Given the description of an element on the screen output the (x, y) to click on. 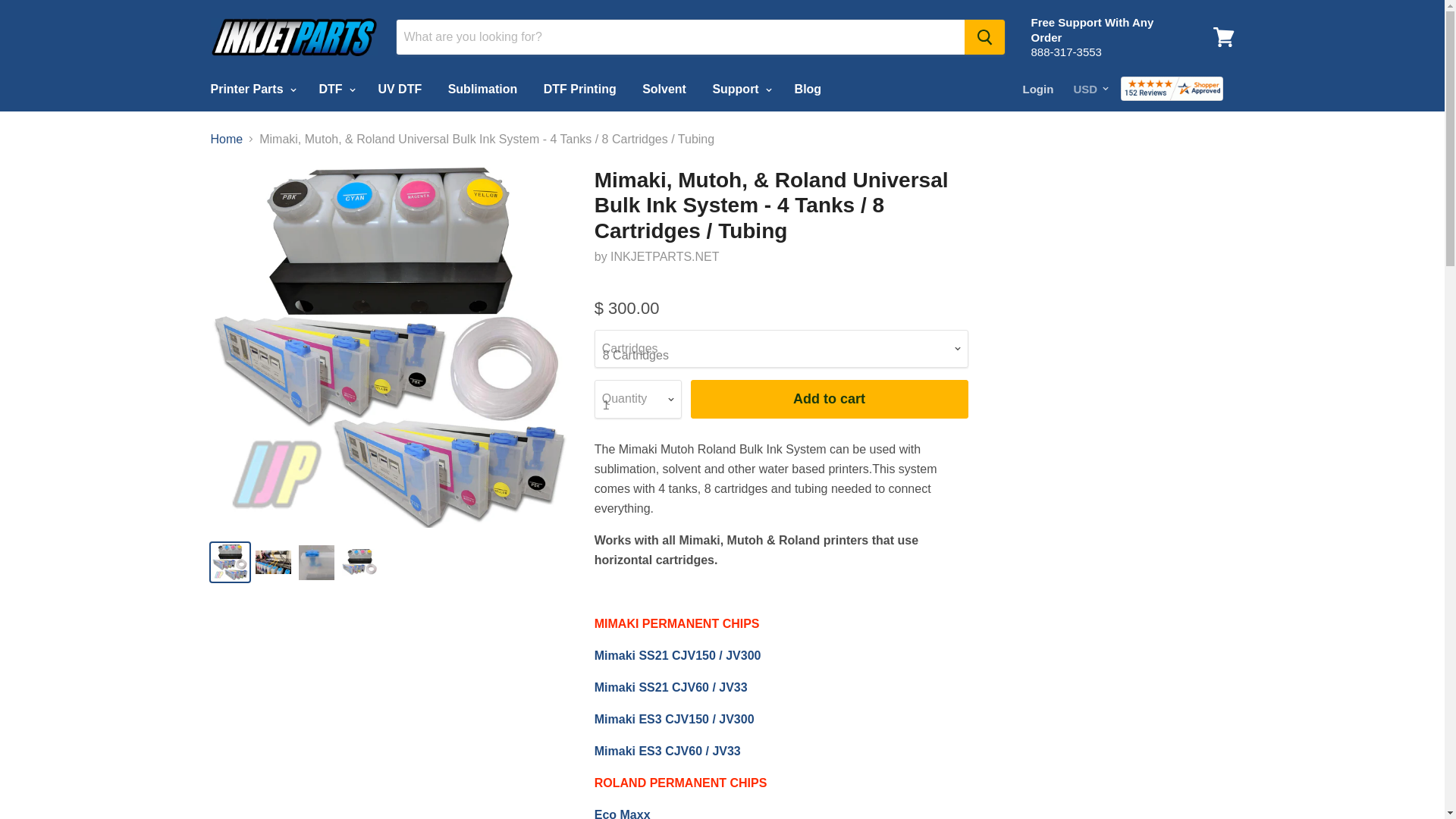
Printer Parts (250, 88)
View cart (1223, 36)
